Given the description of an element on the screen output the (x, y) to click on. 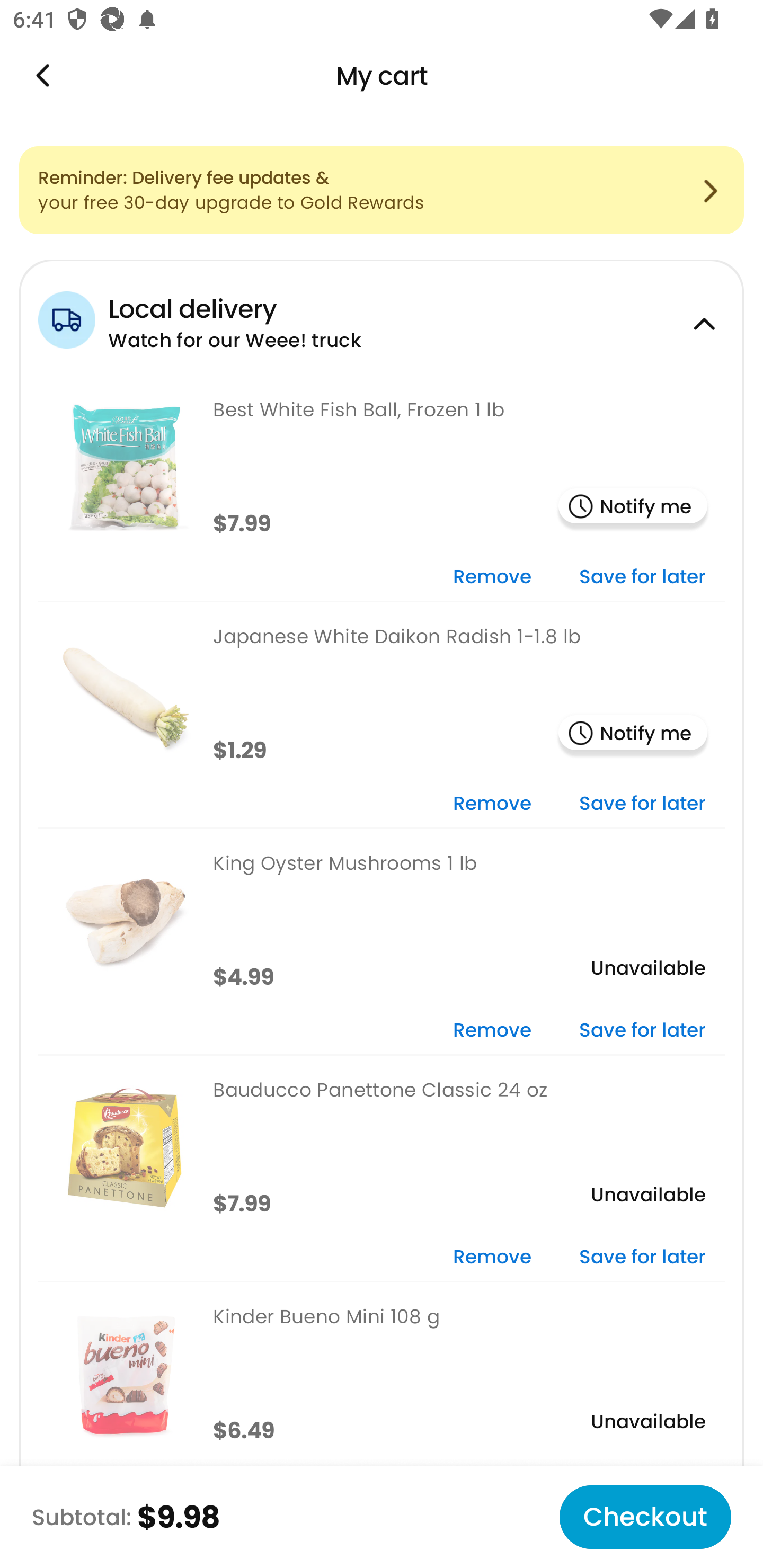
Local delivery Watch for our Weee! truck (381, 317)
Notify me (632, 507)
Remove (491, 577)
Save for later (642, 577)
Notify me (632, 734)
Remove (491, 804)
Save for later (642, 804)
Remove (491, 1030)
Save for later (642, 1030)
Remove (491, 1258)
Save for later (642, 1258)
Checkout (644, 1516)
